Given the description of an element on the screen output the (x, y) to click on. 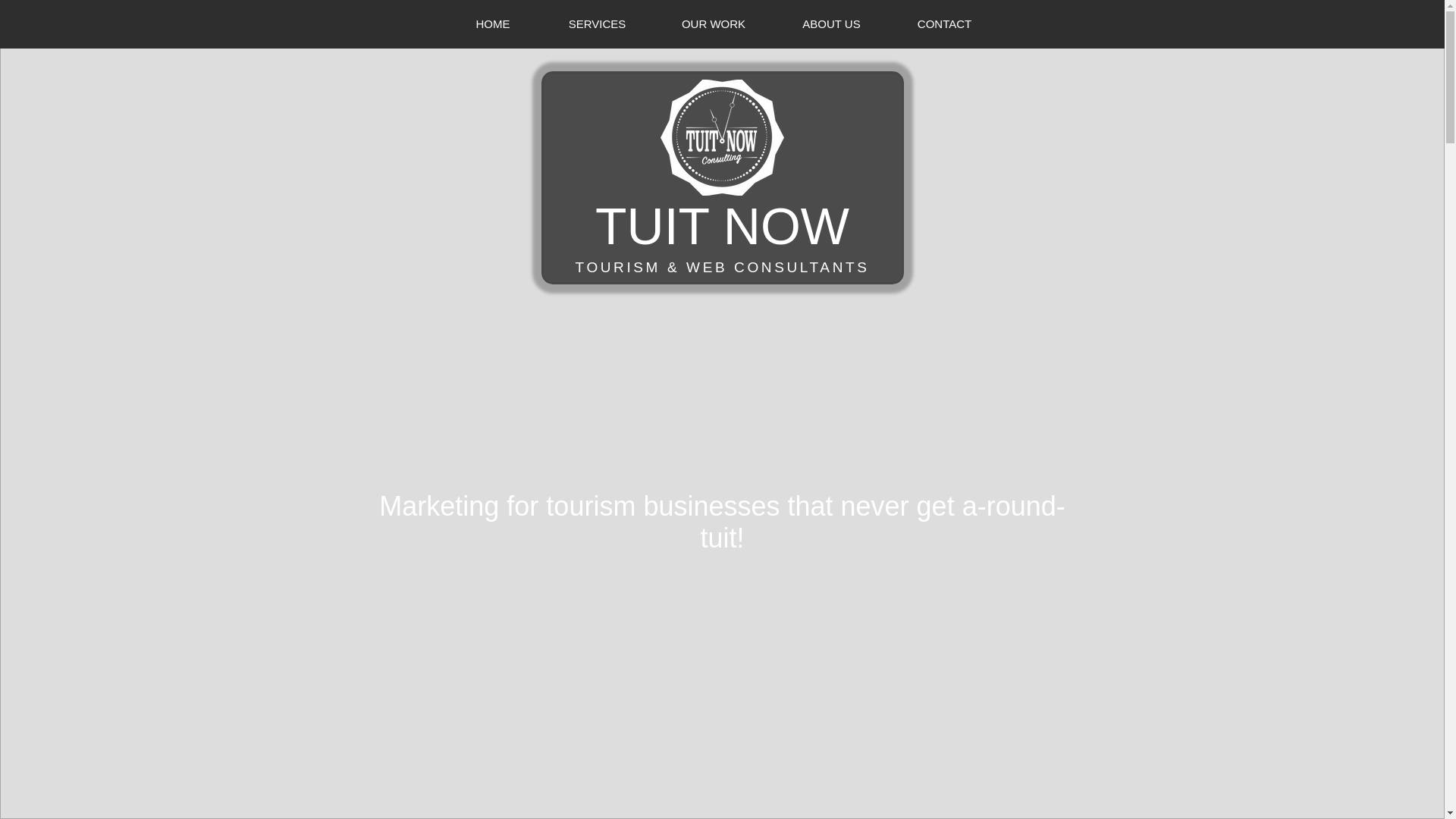
SERVICES (596, 24)
CONTACT (943, 24)
HOME (492, 24)
OUR WORK (713, 24)
ABOUT US (831, 24)
TUIT NOW (721, 225)
